Given the description of an element on the screen output the (x, y) to click on. 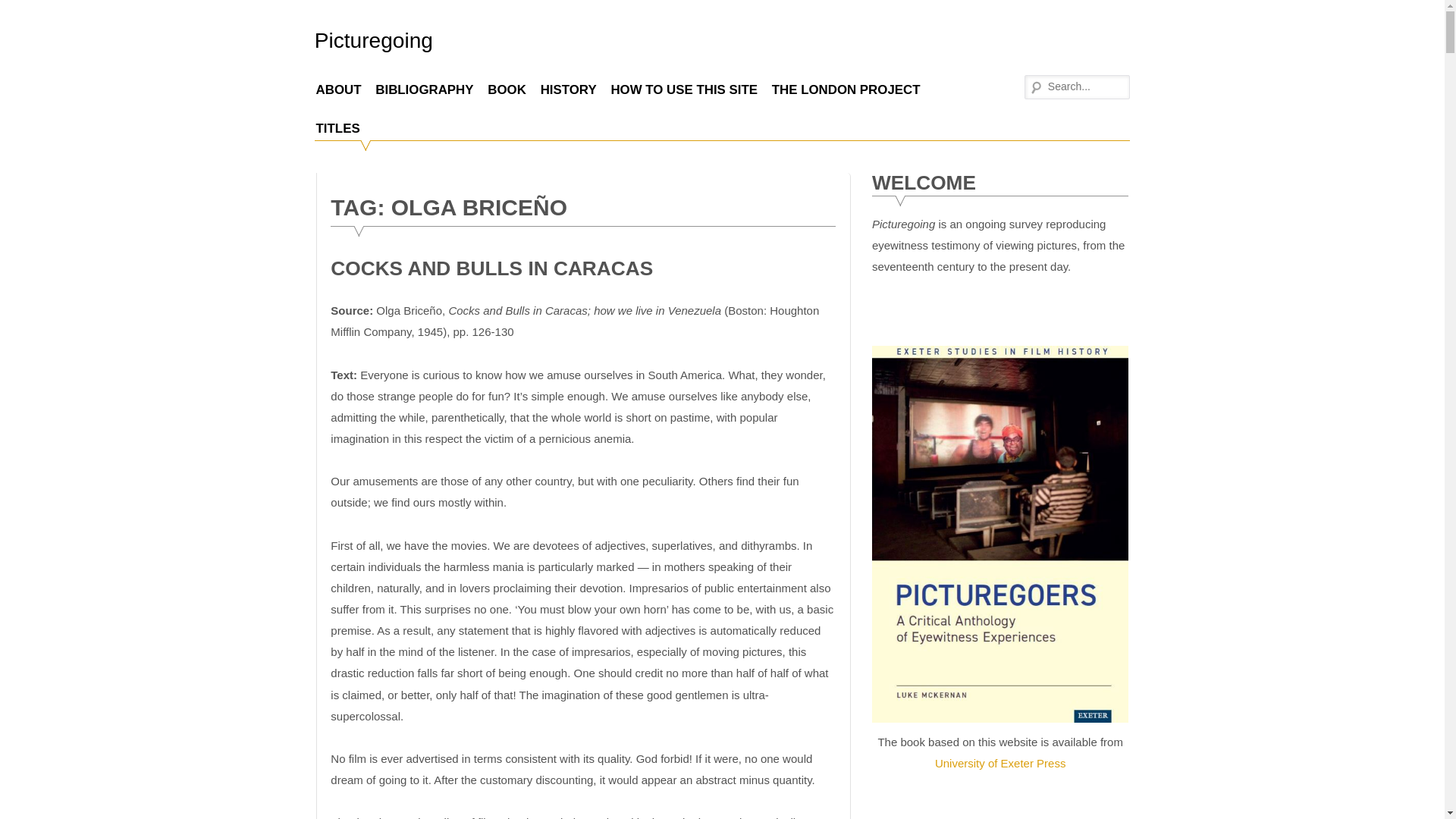
TITLES (337, 127)
BOOK (506, 89)
University of Exeter Press (999, 762)
HISTORY (568, 89)
HOW TO USE THIS SITE (684, 89)
Search (22, 11)
BIBLIOGRAPHY (424, 89)
THE LONDON PROJECT (845, 89)
Picturegoing (373, 40)
ABOUT (338, 89)
COCKS AND BULLS IN CARACAS (491, 268)
